Given the description of an element on the screen output the (x, y) to click on. 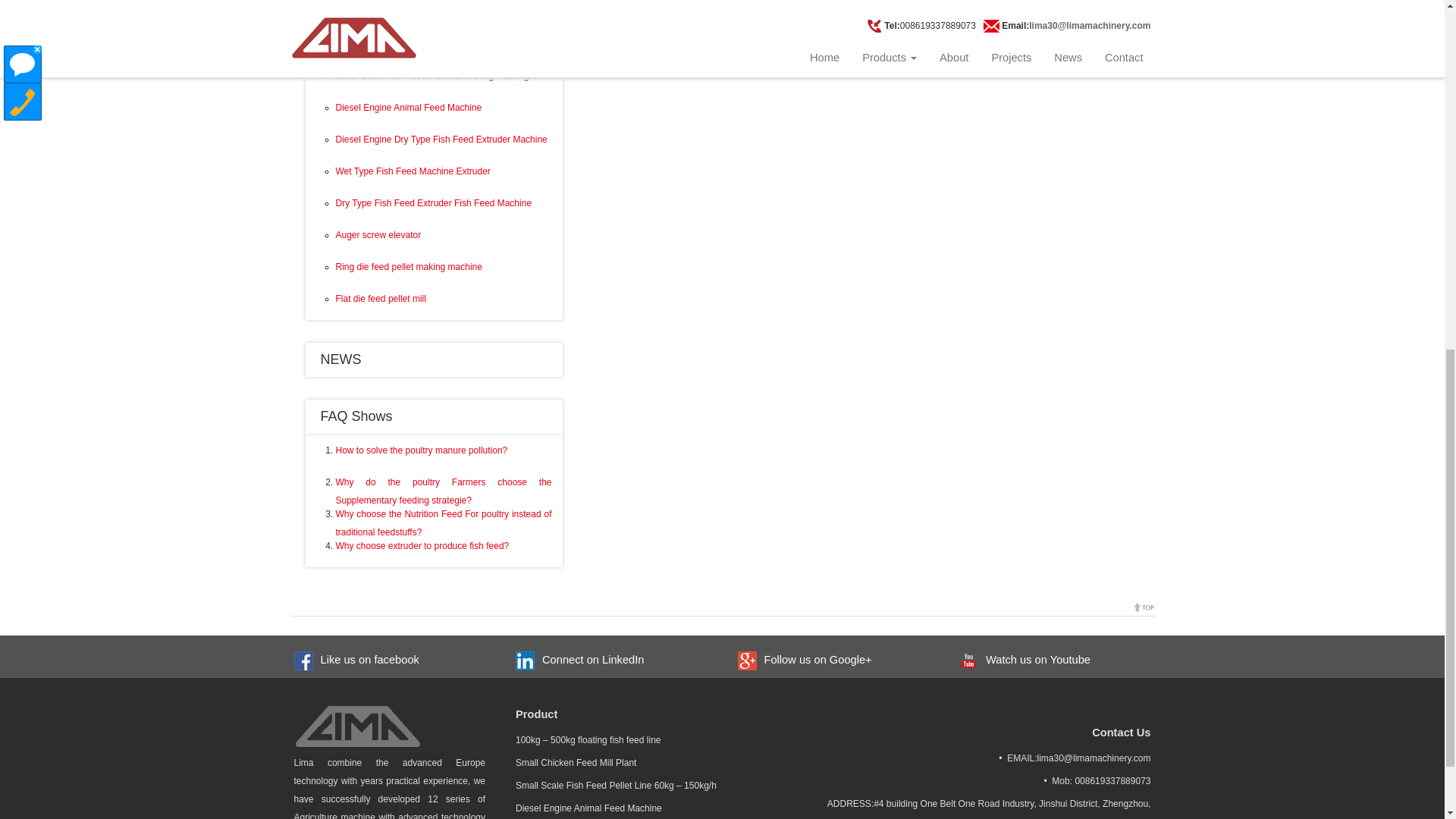
Small Chicken Feed Mill Plant (394, 43)
Ring die feed pellet making machine (407, 266)
Like us on facebook (366, 659)
Auger screw elevator (377, 235)
Why choose extruder to produce fish feed? (421, 545)
NEWS (340, 359)
FAQ Shows (355, 416)
Dry Type Fish Feed Extruder Fish Feed Machine (432, 203)
